Given the description of an element on the screen output the (x, y) to click on. 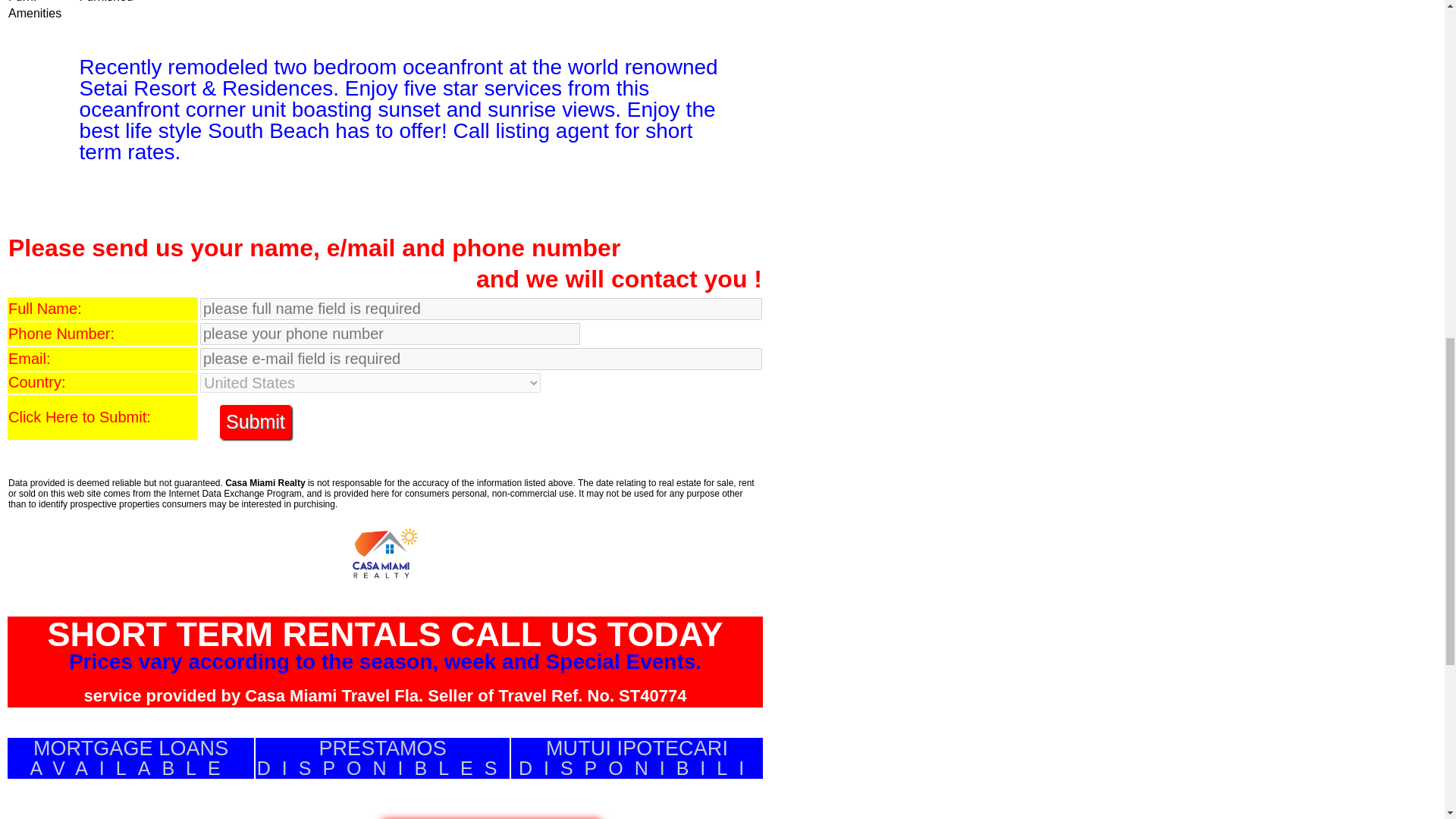
Submit (130, 758)
Submit (382, 758)
